Given the description of an element on the screen output the (x, y) to click on. 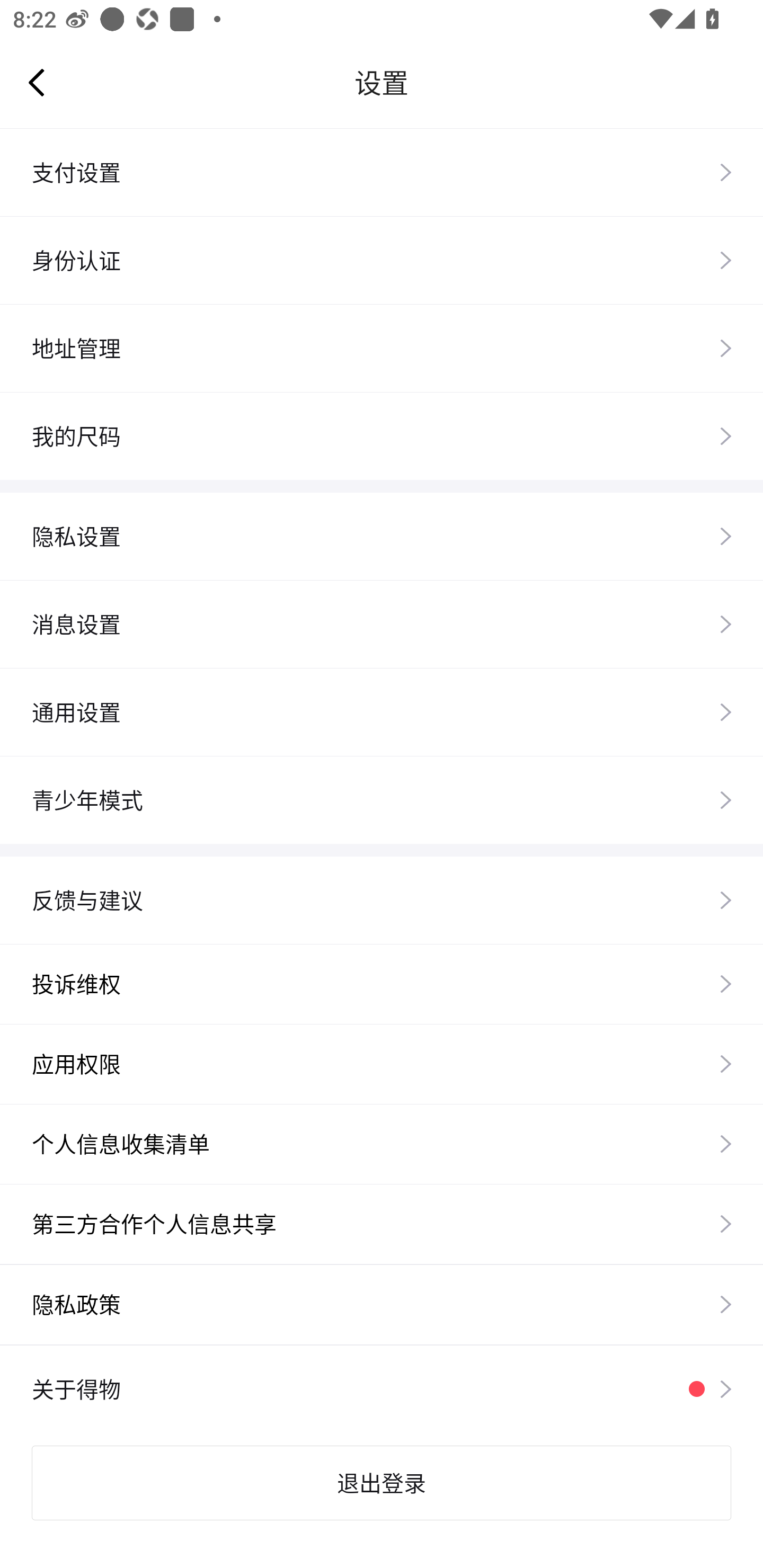
Navigate up (36, 82)
支付设置 (381, 172)
身份认证 (381, 260)
地址管理 (381, 348)
我的尺码 (381, 435)
隐私设置 (381, 536)
消息设置 (381, 623)
通用设置 (381, 711)
青少年模式 (381, 799)
反馈与建议 (381, 899)
投诉维权 (381, 983)
应用权限 (381, 1063)
个人信息收集清单 (381, 1143)
第三方合作个人信息共享 (381, 1223)
隐私政策 (381, 1304)
关于得物 (381, 1389)
退出登录 (381, 1482)
